Given the description of an element on the screen output the (x, y) to click on. 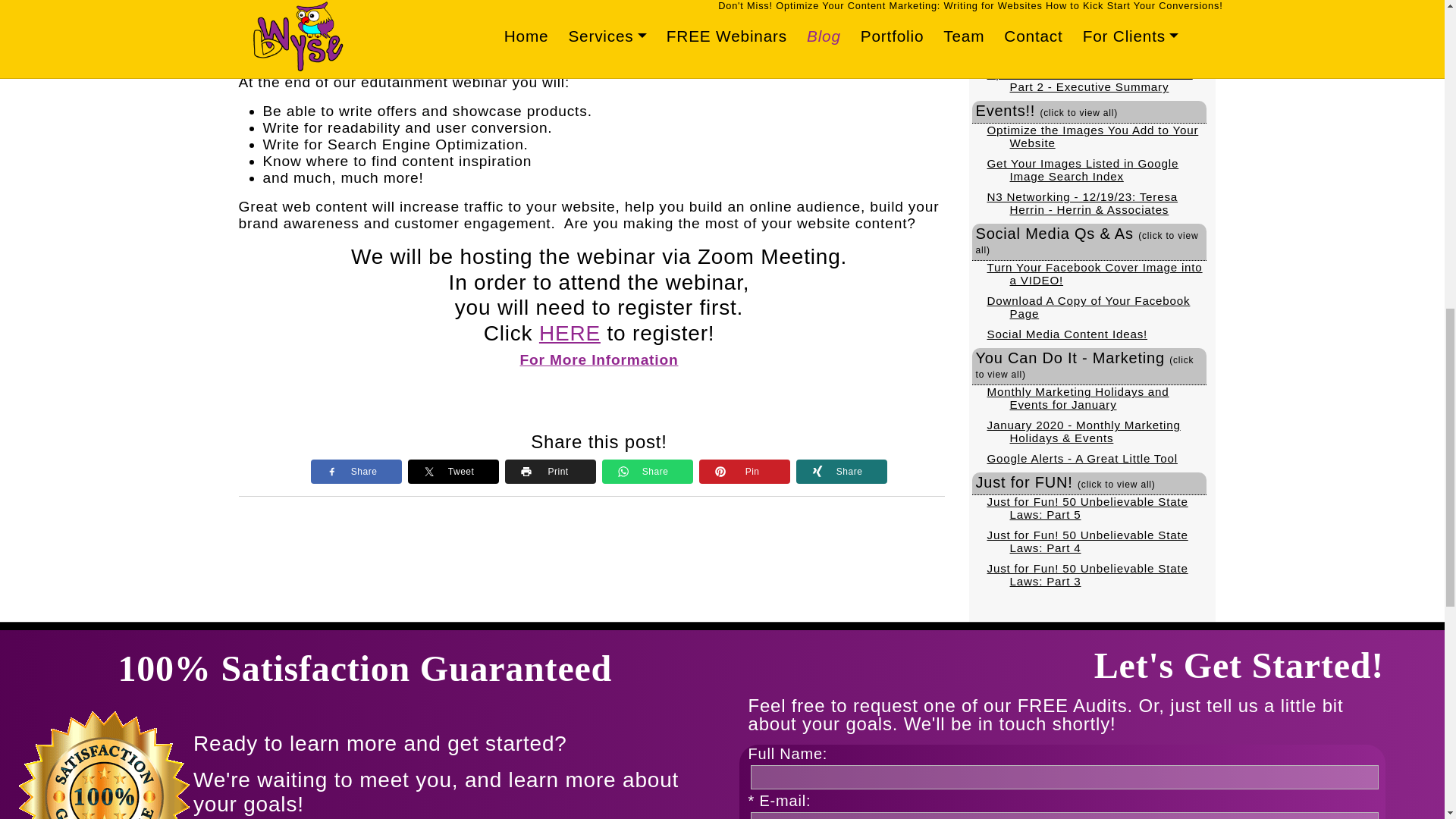
For More Information (598, 359)
HERE (568, 332)
Get Your Images Listed in Google Image Search Index (1083, 169)
Download A Copy of Your Facebook Page (1089, 307)
Register to attend our FREE WEBINAR (509, 19)
Turn Your Facebook Cover Image into a VIDEO! (1094, 273)
Optimize the Images You Add to Your Website (1092, 136)
Social Media Content Ideas! (1067, 333)
